Given the description of an element on the screen output the (x, y) to click on. 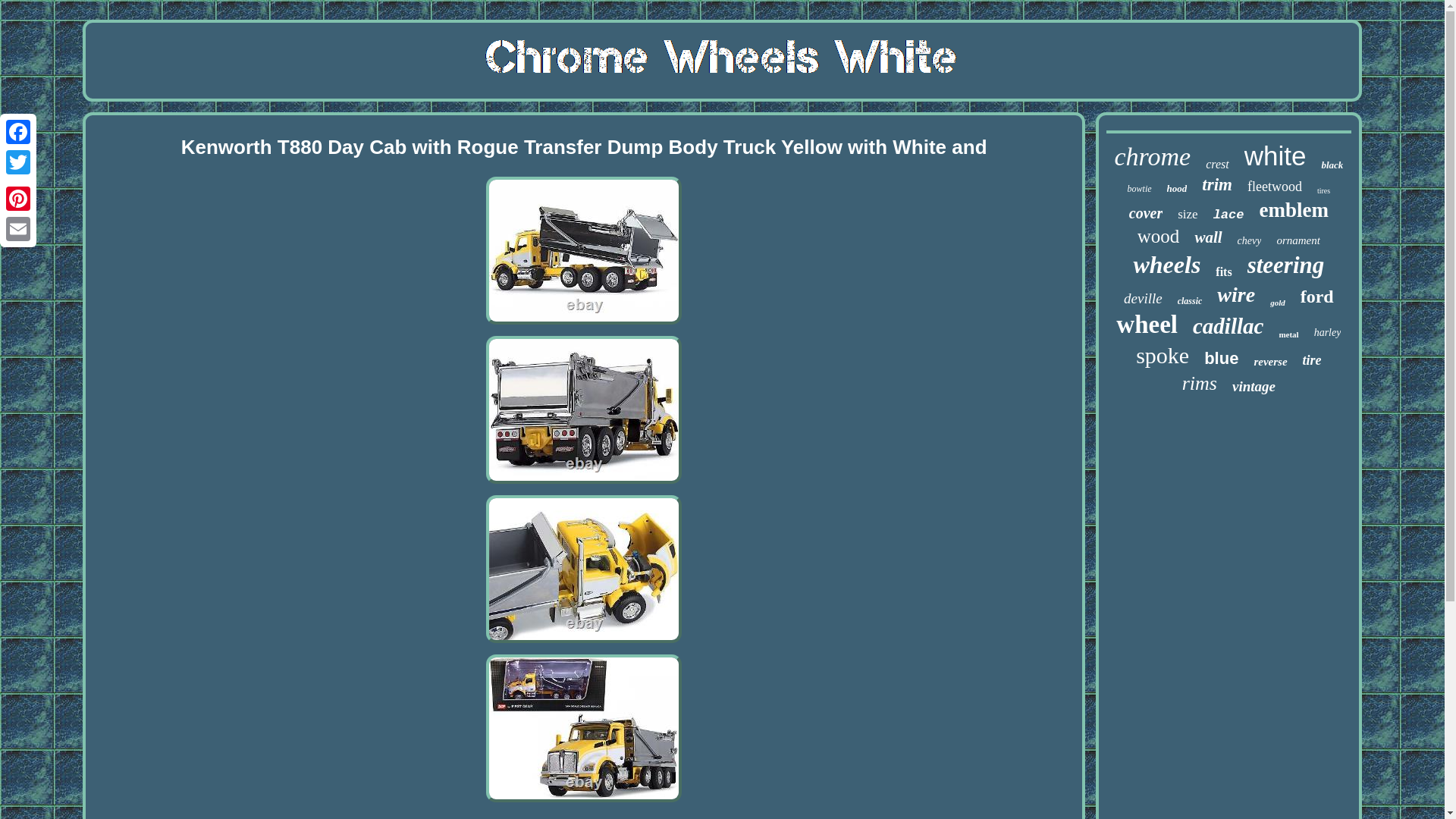
wheels (1165, 264)
classic (1189, 301)
Twitter (17, 162)
fleetwood (1274, 186)
Email (17, 228)
fits (1223, 272)
metal (1288, 334)
gold (1277, 302)
deville (1142, 298)
chrome (1152, 156)
Facebook (17, 132)
cover (1145, 212)
emblem (1293, 210)
